Given the description of an element on the screen output the (x, y) to click on. 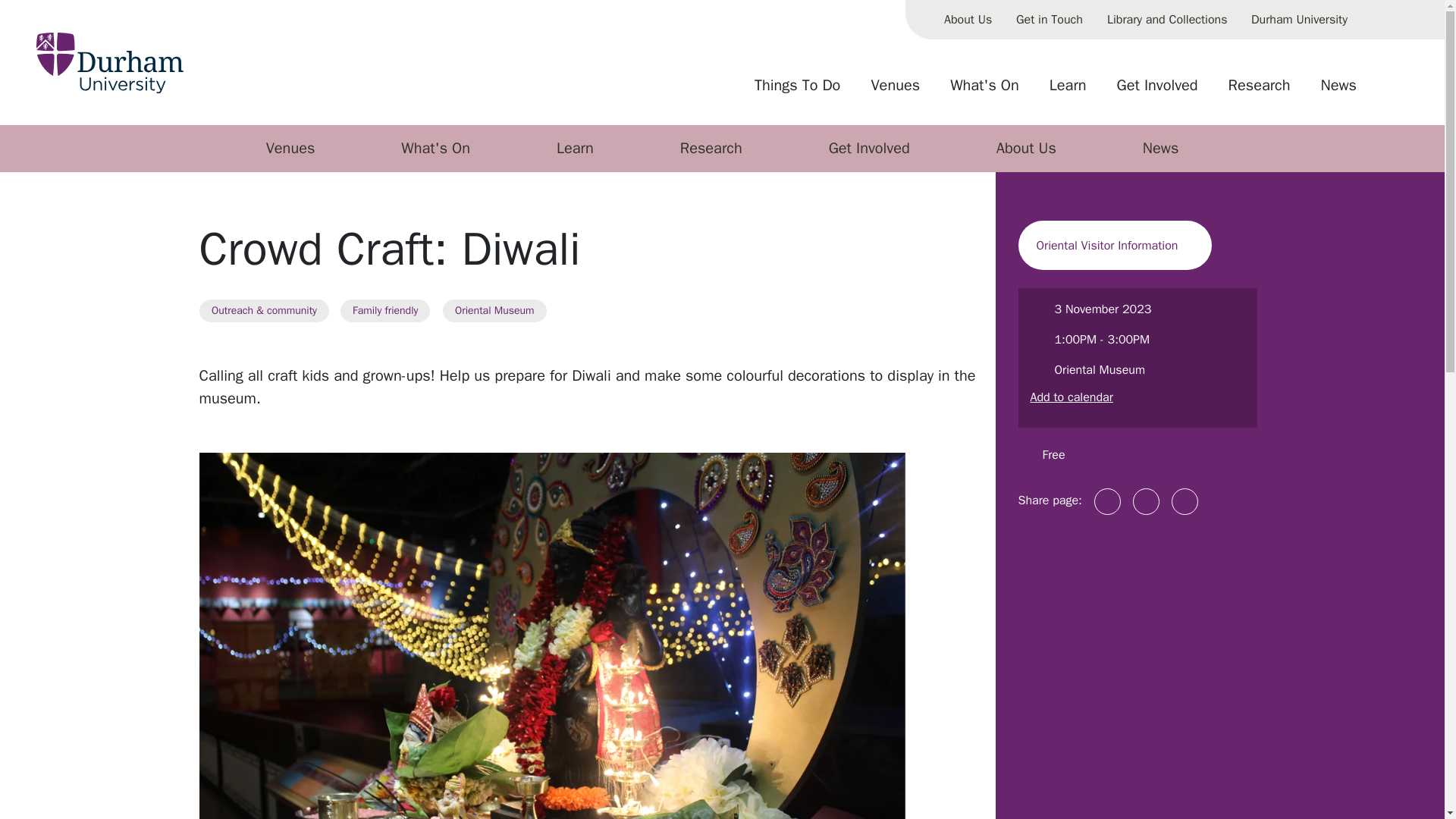
News (1337, 91)
Library and Collections (1166, 19)
Things To Do (796, 91)
Research (1259, 91)
Venues (895, 91)
What's On (983, 91)
Get Involved (1157, 91)
About Us (967, 19)
Durham University (1299, 19)
